Given the description of an element on the screen output the (x, y) to click on. 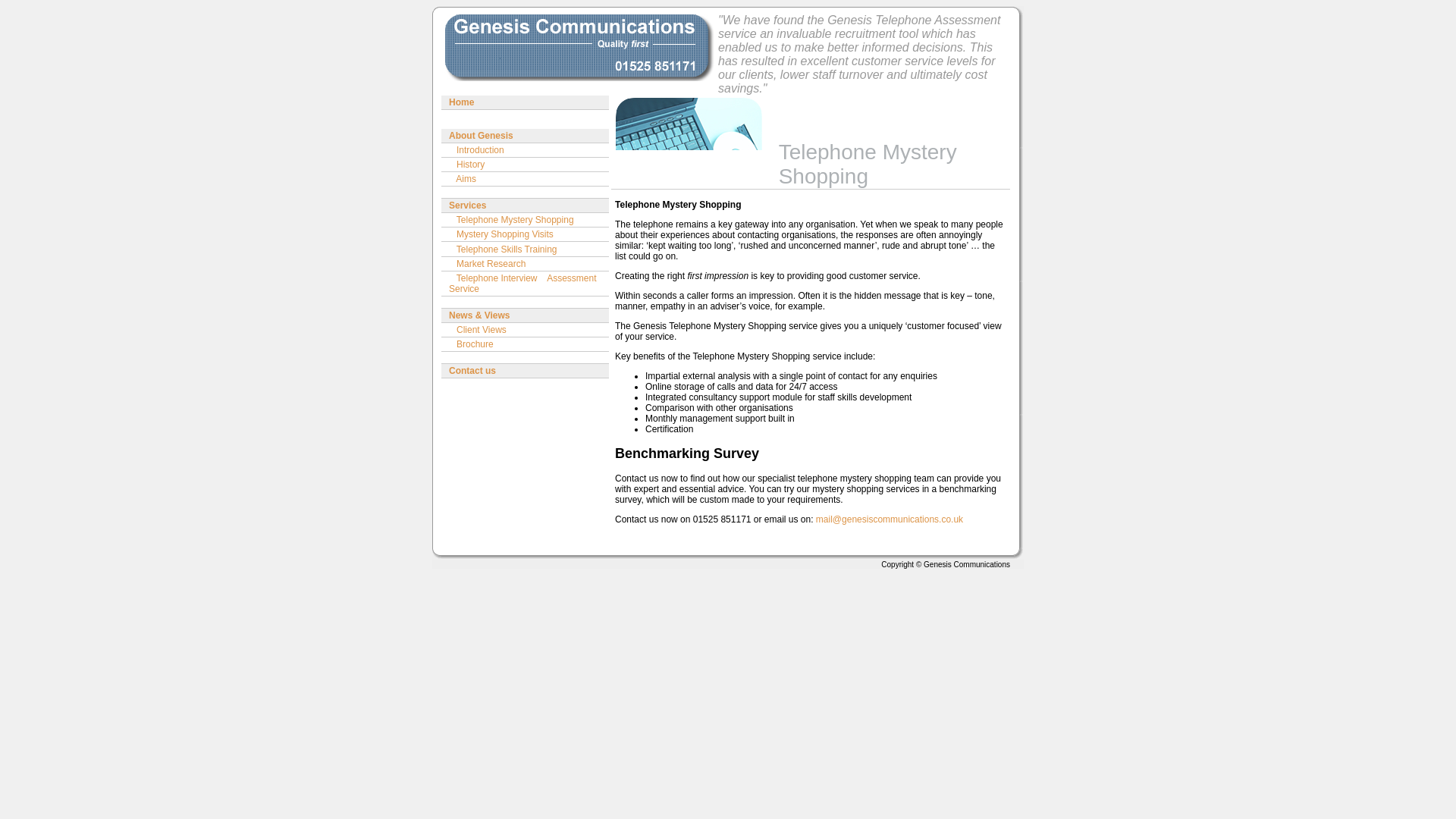
   Aims (524, 178)
Contact us (524, 370)
   Telephone Skills Training (524, 249)
   Brochure (524, 344)
   Client Views (524, 329)
   Telephone Mystery Shopping (524, 219)
   Introduction (524, 150)
   History (524, 164)
   Market Research (524, 264)
   Mystery Shopping Visits (524, 233)
   Telephone Interview    Assessment Service (524, 283)
Home (524, 101)
